Given the description of an element on the screen output the (x, y) to click on. 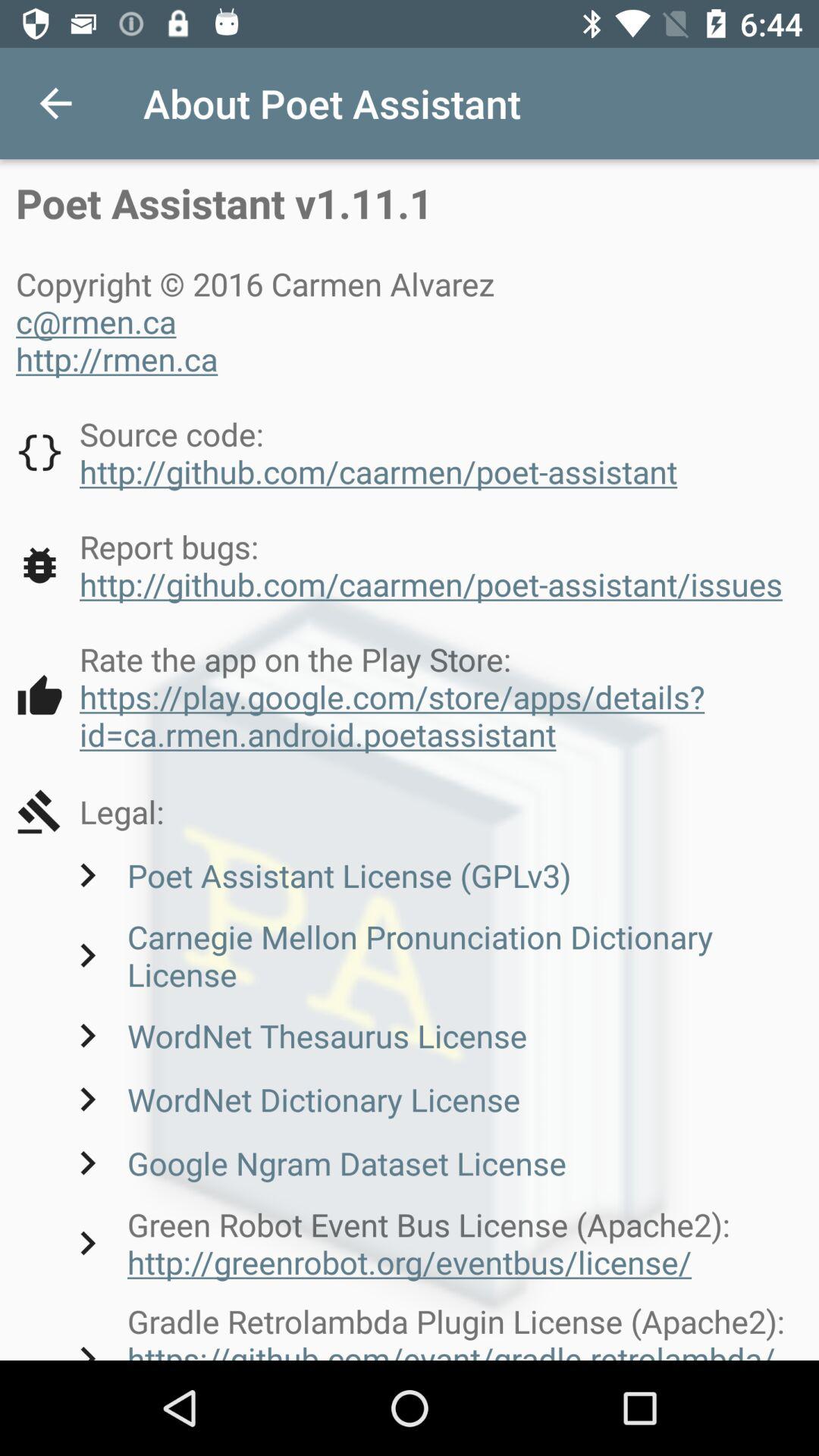
select 2 lines text which is above report bugs on the page (346, 452)
it is clickable (409, 696)
click on the text which is below google ngram dataset licence (433, 1243)
click on google ngram dataset license which is 5th option in legal section (314, 1162)
select the text which is immediately above wordnet dictionary license in legal category (295, 1035)
select the 3 lines text which is above the source code (260, 321)
